Given the description of an element on the screen output the (x, y) to click on. 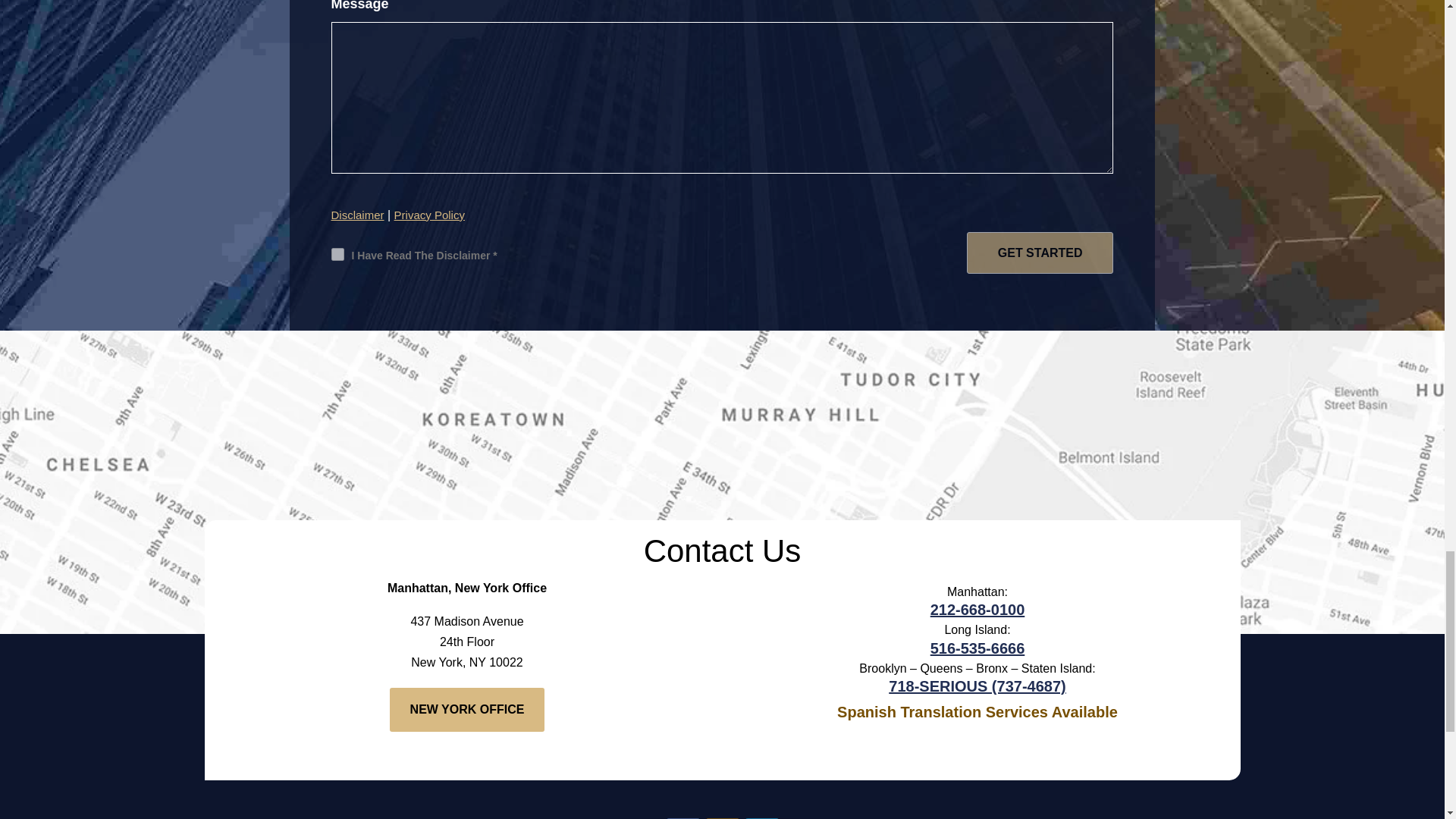
Get Started (1039, 252)
